Given the description of an element on the screen output the (x, y) to click on. 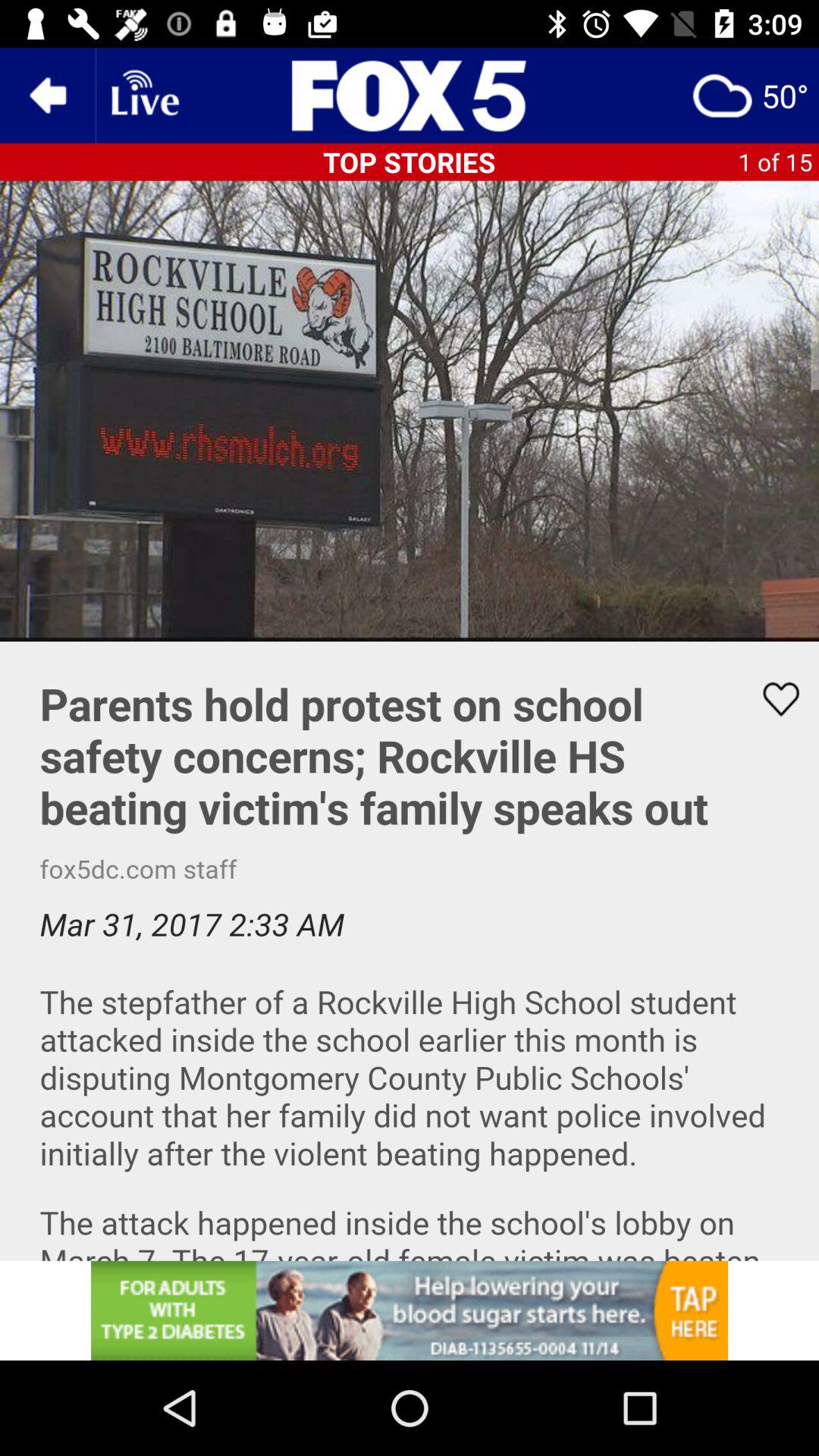
the button says that to watch live (143, 95)
